Given the description of an element on the screen output the (x, y) to click on. 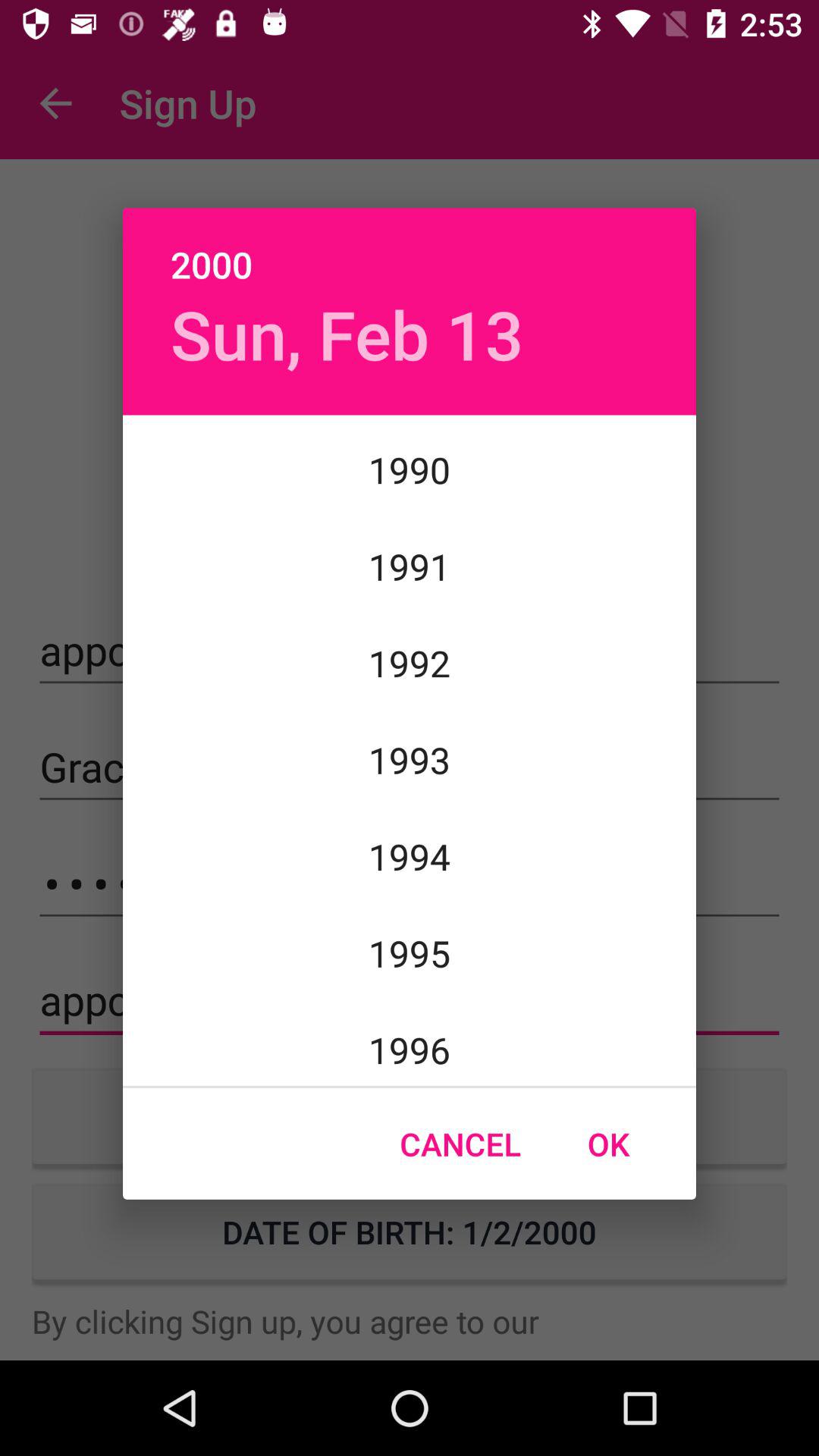
swipe to the ok item (608, 1143)
